Given the description of an element on the screen output the (x, y) to click on. 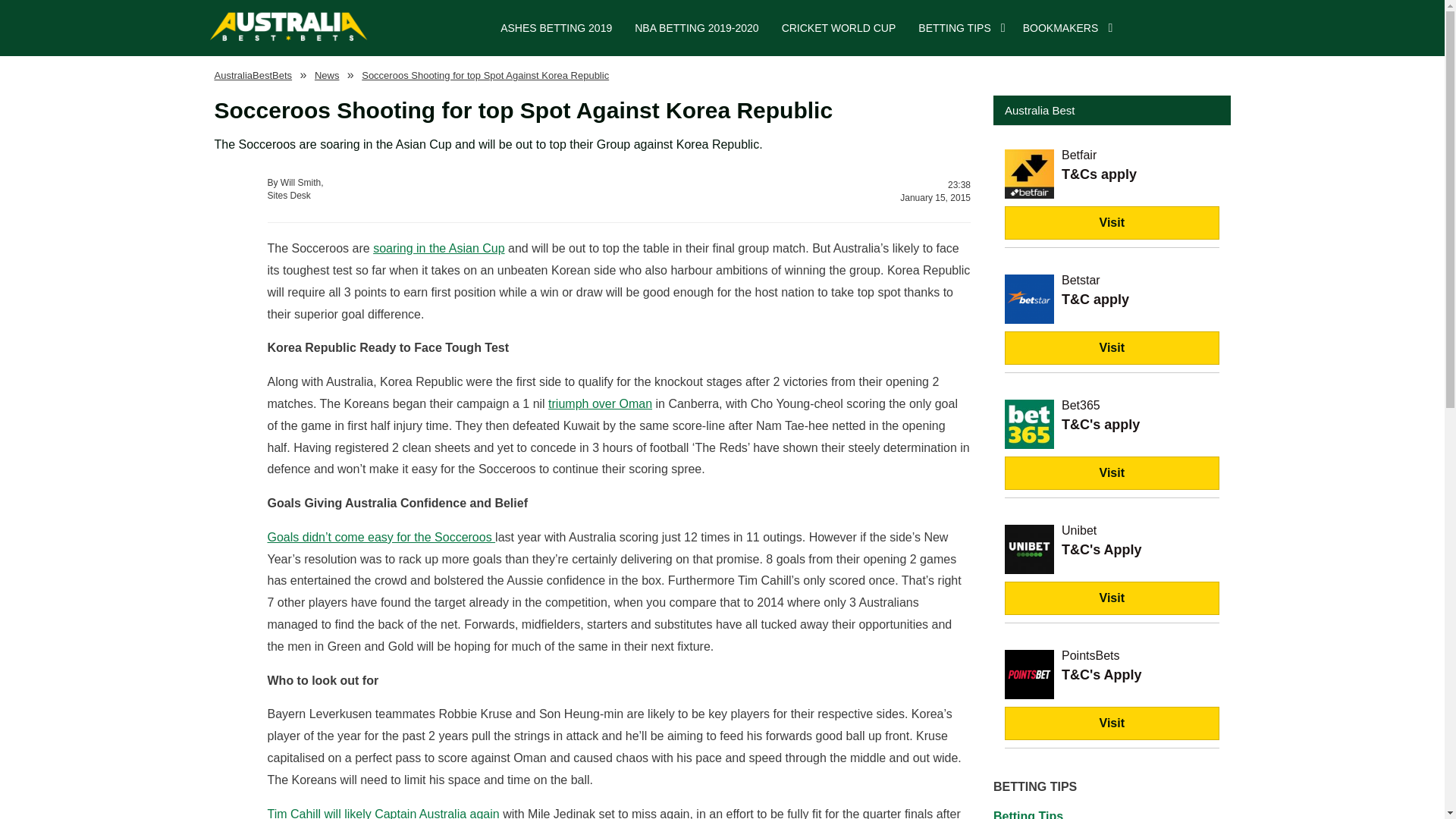
AustraliaBestBets (253, 74)
Socceroos Shooting for top Spot Against Korea Republic (1029, 174)
pointsbet logo (1029, 674)
ASHES BETTING 2019 (556, 28)
Will Smith (436, 189)
NBA BETTING 2019-2020 (696, 28)
soaring in the Asian Cup (437, 247)
CRICKET WORLD CUP (838, 28)
News (326, 74)
